Given the description of an element on the screen output the (x, y) to click on. 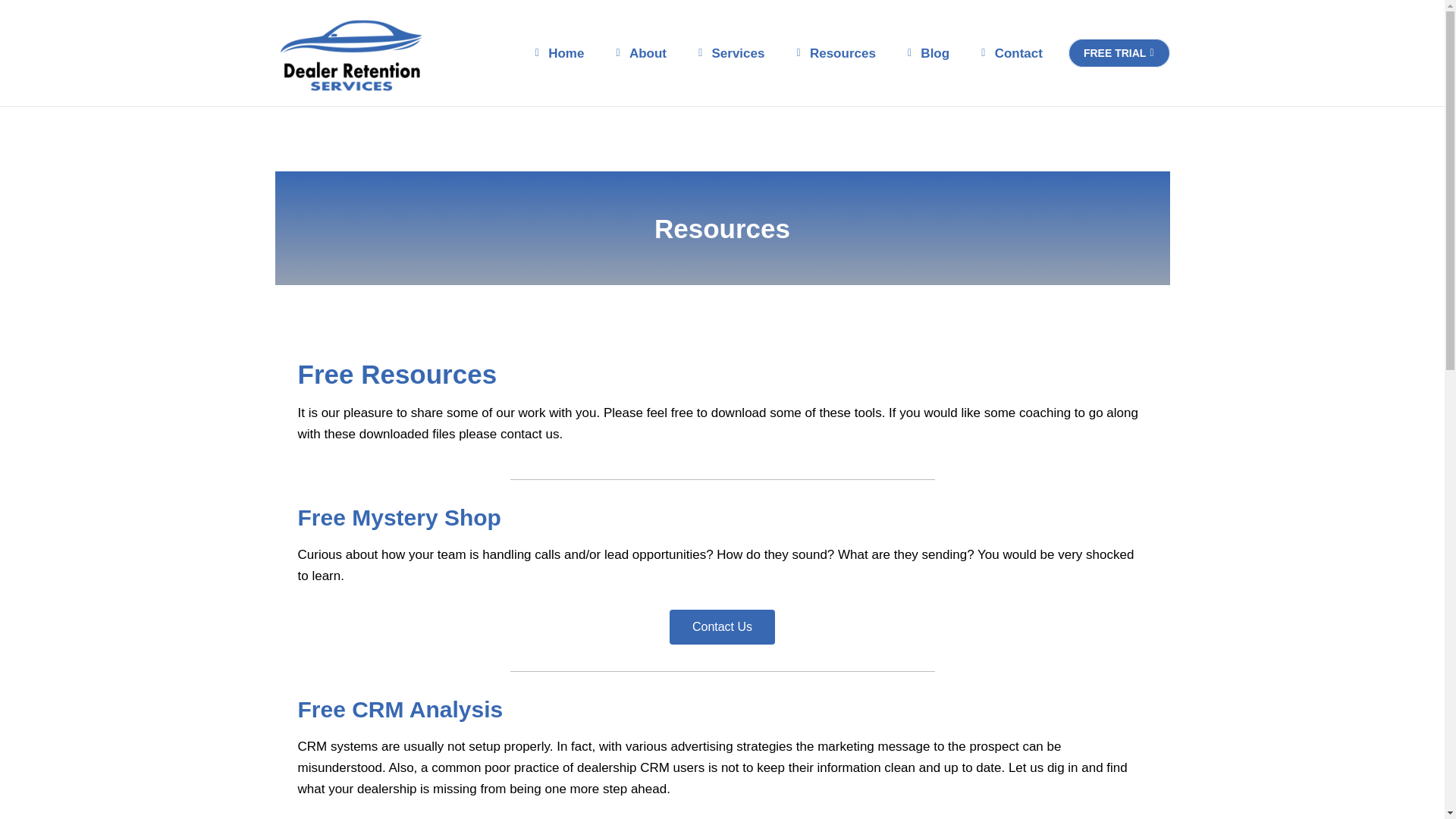
FREE TRIAL (1119, 52)
About (638, 53)
Blog (925, 53)
Home (557, 53)
Contact (1009, 53)
Services (728, 53)
Resources (833, 53)
